Given the description of an element on the screen output the (x, y) to click on. 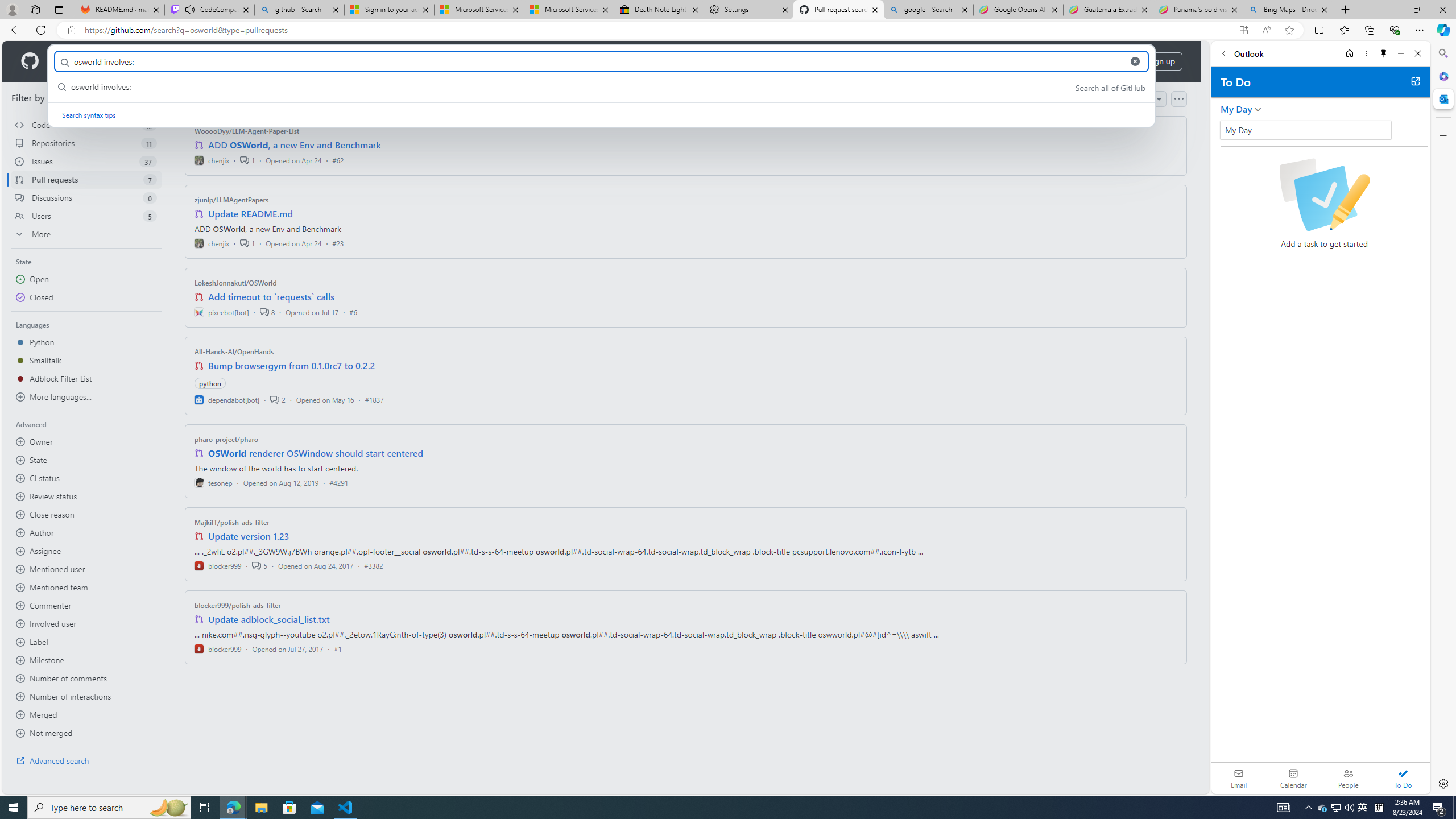
WooooDyy/LLM-Agent-Paper-List (247, 130)
#1 (337, 648)
MajkiIT/polish-ads-filter (232, 521)
#23 (337, 242)
Sort by: Best match (1126, 98)
5 (259, 565)
Add a task (1334, 133)
